Given the description of an element on the screen output the (x, y) to click on. 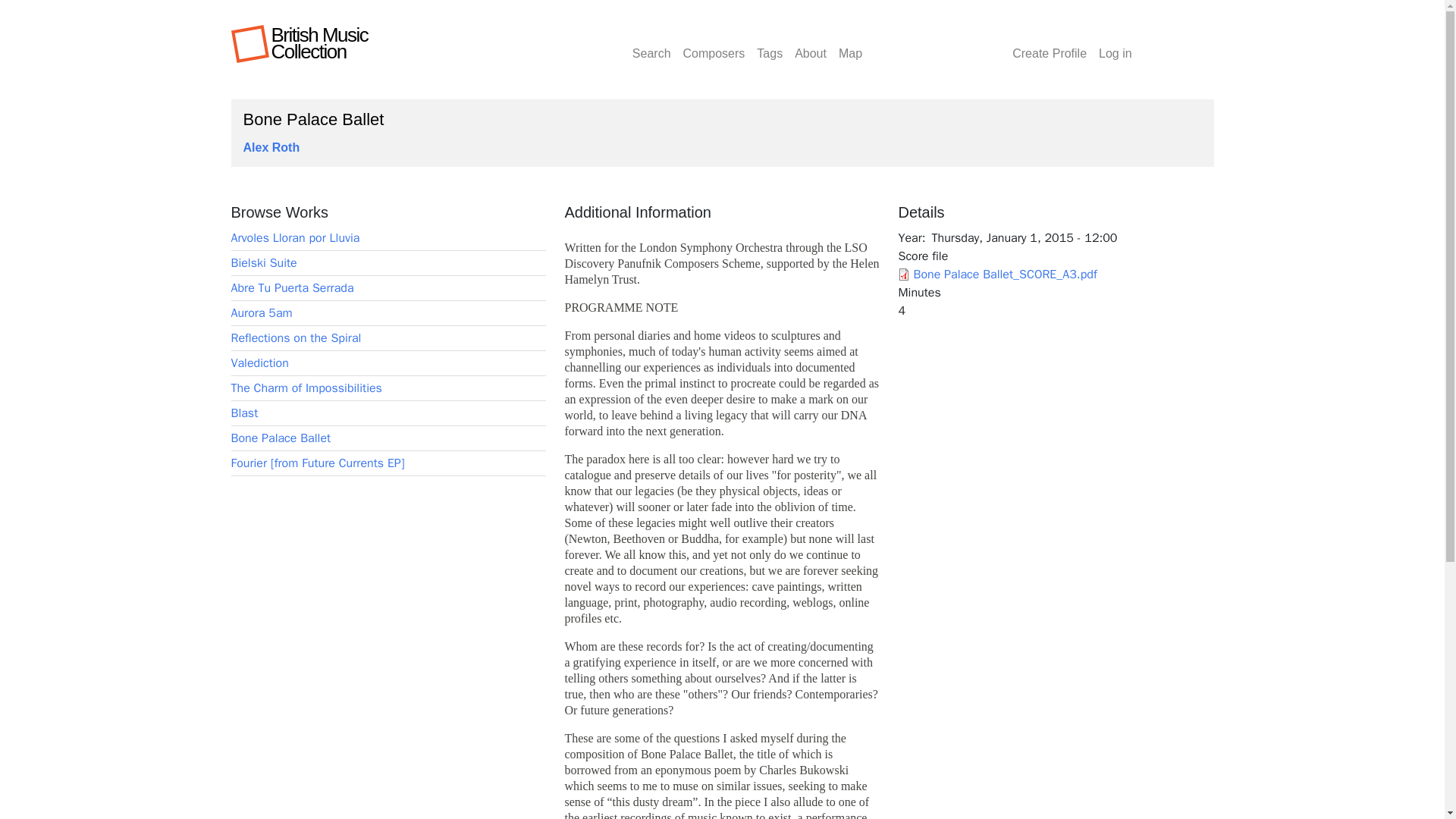
Aurora 5am (261, 313)
Composers (714, 44)
Bone Palace Ballet (280, 437)
Map (849, 44)
The Charm of Impossibilities (305, 387)
British Music Collection (319, 43)
Search (651, 44)
Create Profile (1049, 44)
Log in (1115, 44)
Home (319, 43)
Arvoles Lloran por Lluvia (294, 237)
Tags (770, 44)
Alex Roth (271, 146)
Home (250, 42)
Abre Tu Puerta Serrada (291, 287)
